Given the description of an element on the screen output the (x, y) to click on. 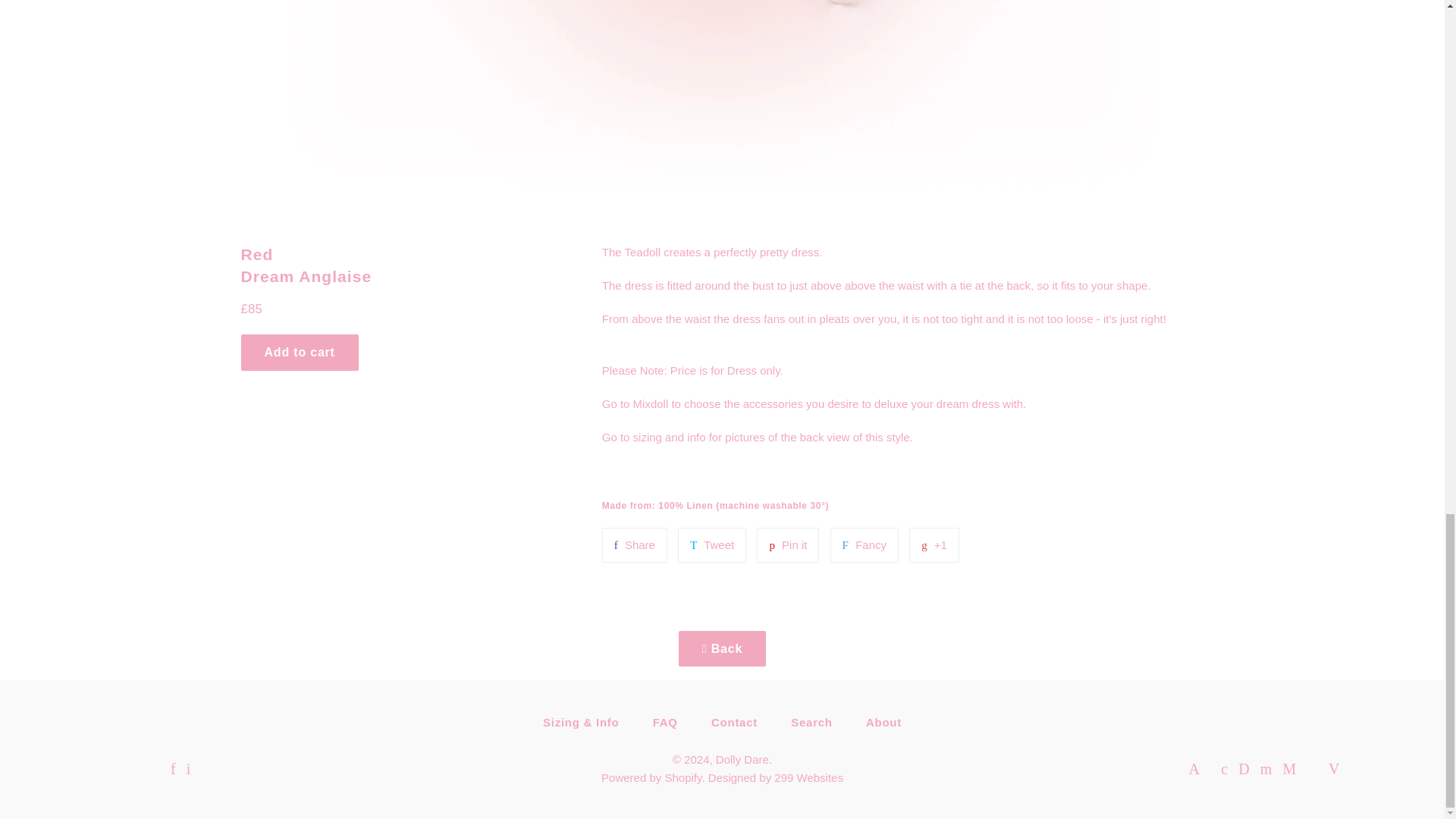
Dolly Dare on Facebook (173, 769)
Dolly Dare on Instagram (188, 769)
